Given the description of an element on the screen output the (x, y) to click on. 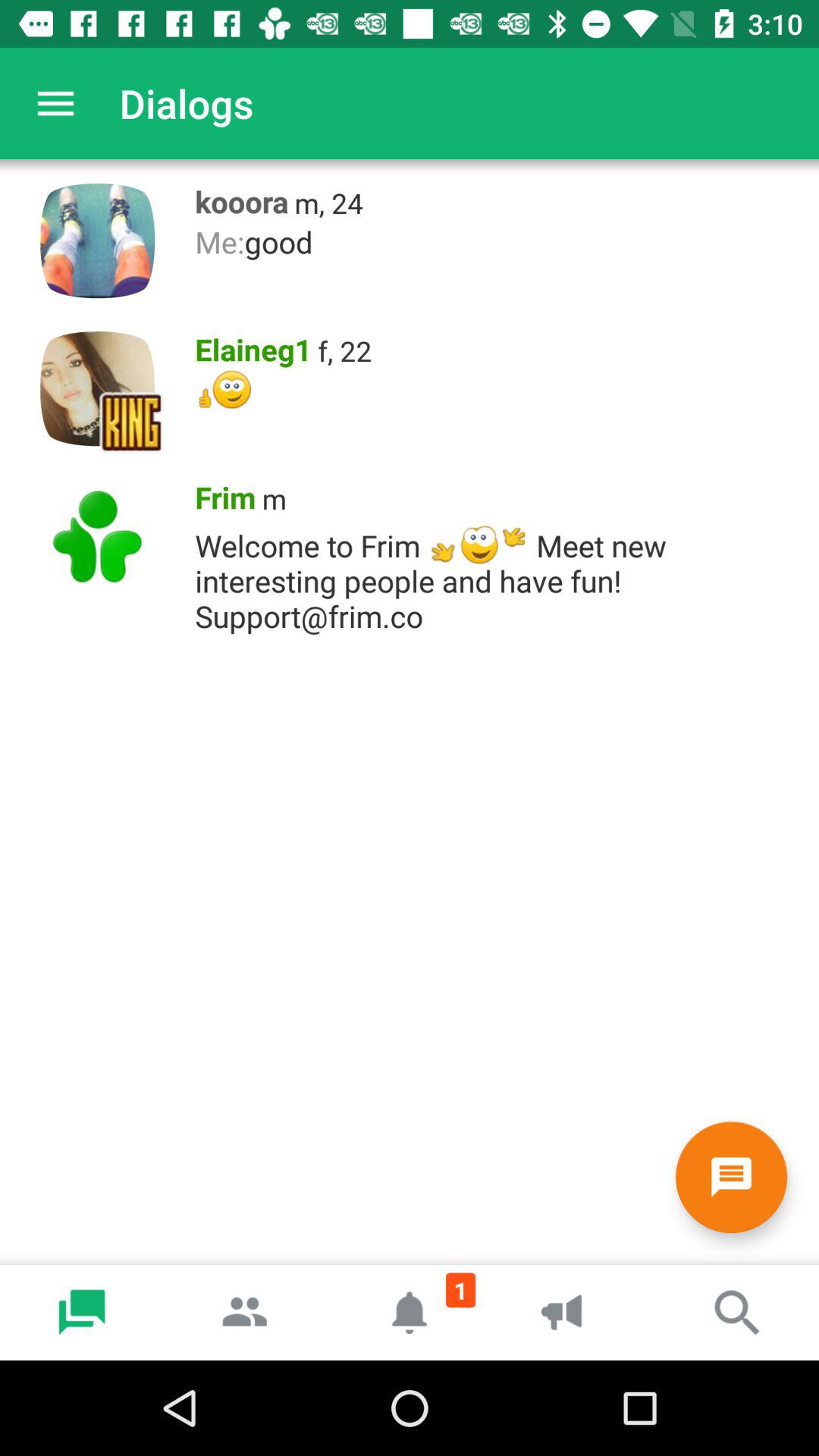
select m, 24 (328, 202)
